Given the description of an element on the screen output the (x, y) to click on. 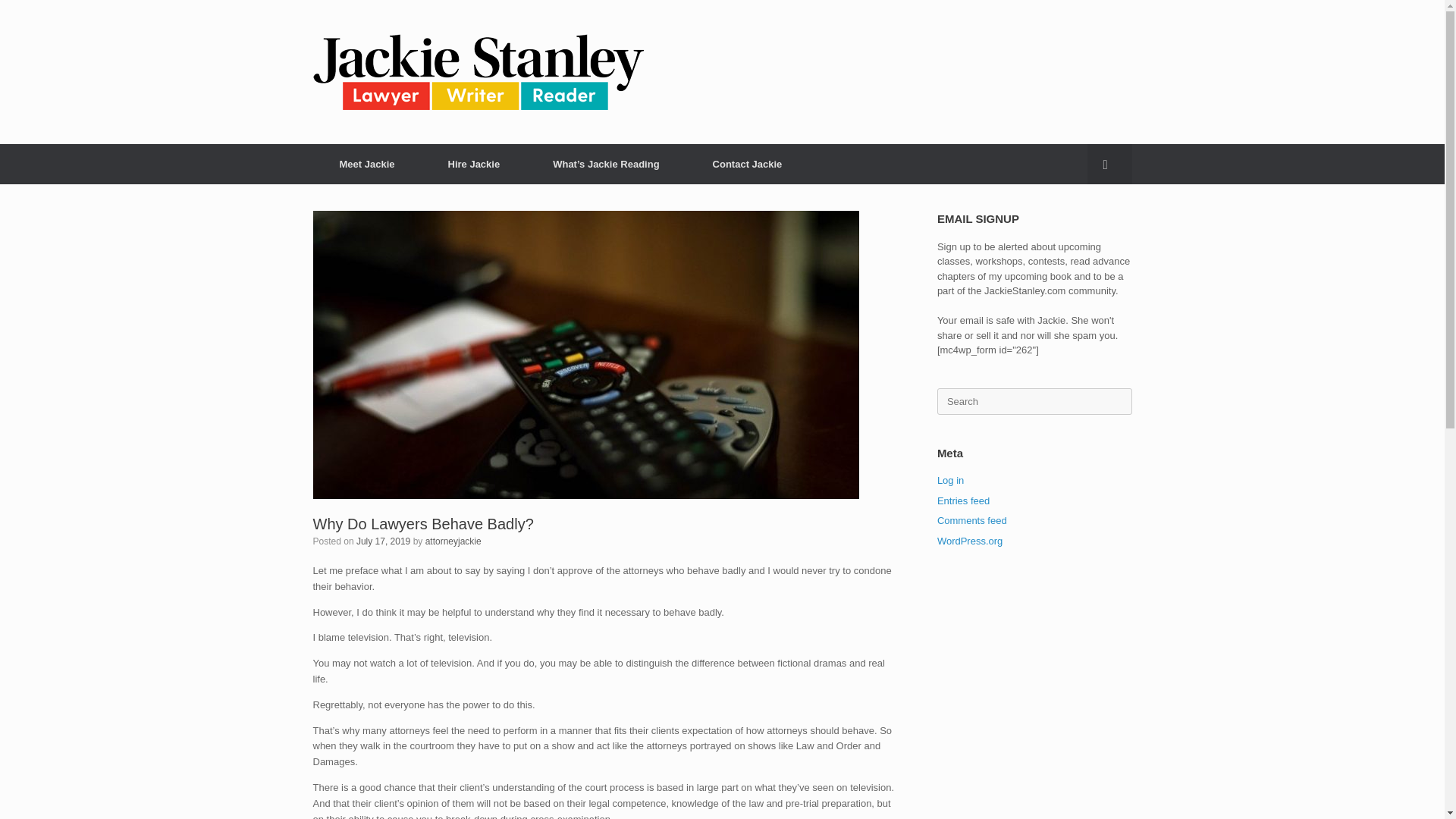
Hire Jackie (474, 164)
attorneyjackie (453, 541)
Jackie Stanley (478, 71)
View all posts by attorneyjackie (453, 541)
WordPress.org (970, 541)
Contact Jackie (747, 164)
Log in (950, 480)
Comments feed (972, 520)
Meet Jackie (366, 164)
Entries feed (963, 500)
July 17, 2019 (383, 541)
11:22 am (383, 541)
